Given the description of an element on the screen output the (x, y) to click on. 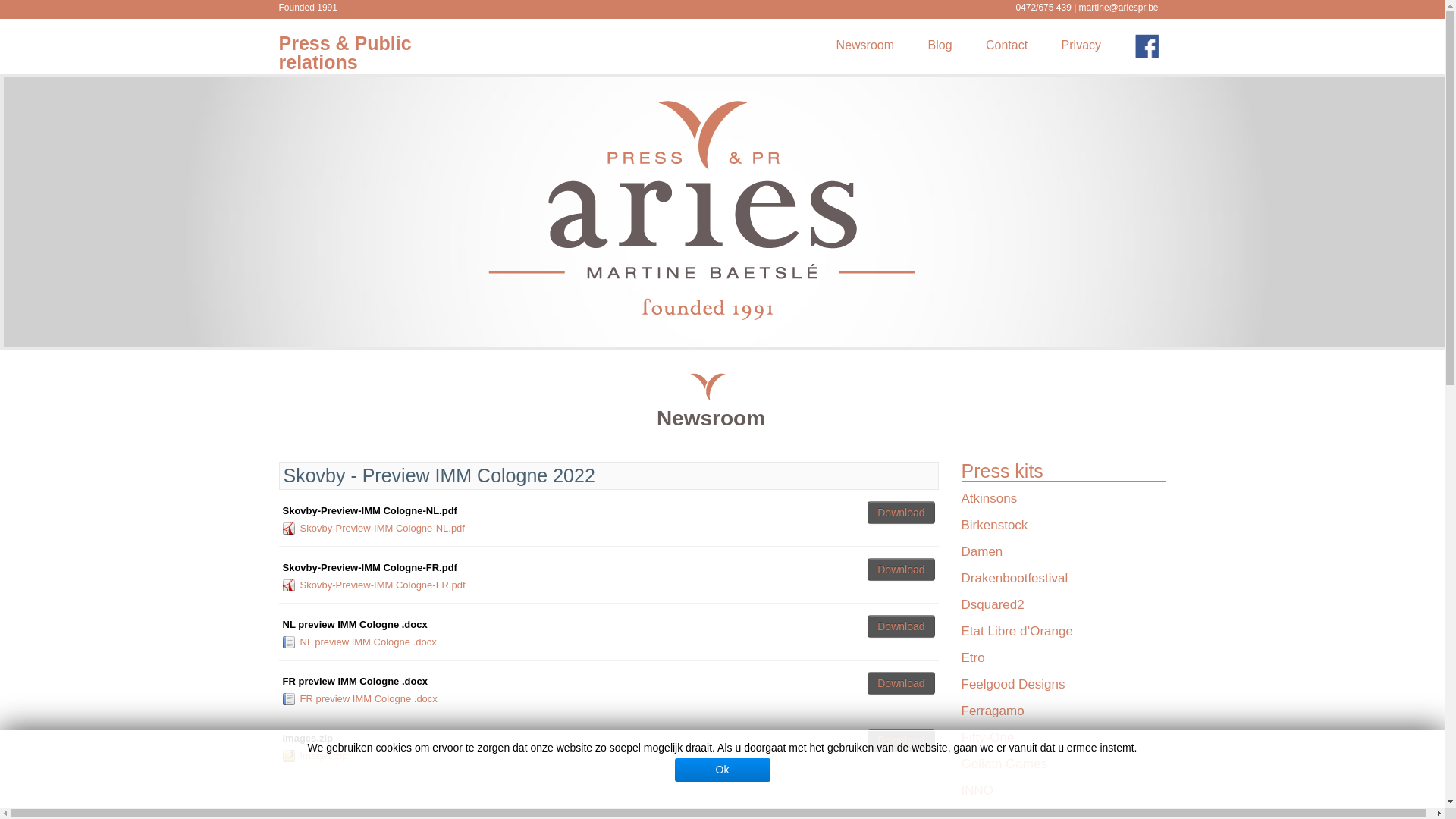
Goliath Games Element type: text (1004, 763)
Download Element type: text (900, 569)
FR preview IMM Cologne .docx Element type: text (368, 698)
Dsquared2 Element type: text (992, 604)
Press & Public relations Element type: text (345, 52)
Download Element type: text (900, 626)
Feelgood Designs Element type: text (1013, 684)
Privacy Element type: text (1081, 44)
Download Element type: text (900, 682)
Download Element type: text (900, 739)
Skovby-Preview-IMM Cologne-NL.pdf Element type: text (382, 527)
INNO Element type: text (977, 790)
Blog Element type: text (940, 44)
Birkenstock Element type: text (994, 524)
Fifty-One Element type: text (987, 737)
Damen Element type: text (982, 551)
Etro Element type: text (973, 657)
Drakenbootfestival Element type: text (1014, 578)
Images.zip Element type: text (324, 755)
Contact Element type: text (1006, 44)
NL preview IMM Cologne .docx Element type: text (368, 641)
Skovby-Preview-IMM Cologne-FR.pdf Element type: text (382, 584)
Newsroom Element type: text (865, 44)
Ferragamo Element type: text (992, 710)
Download Element type: text (900, 512)
Atkinsons Element type: text (989, 498)
